Given the description of an element on the screen output the (x, y) to click on. 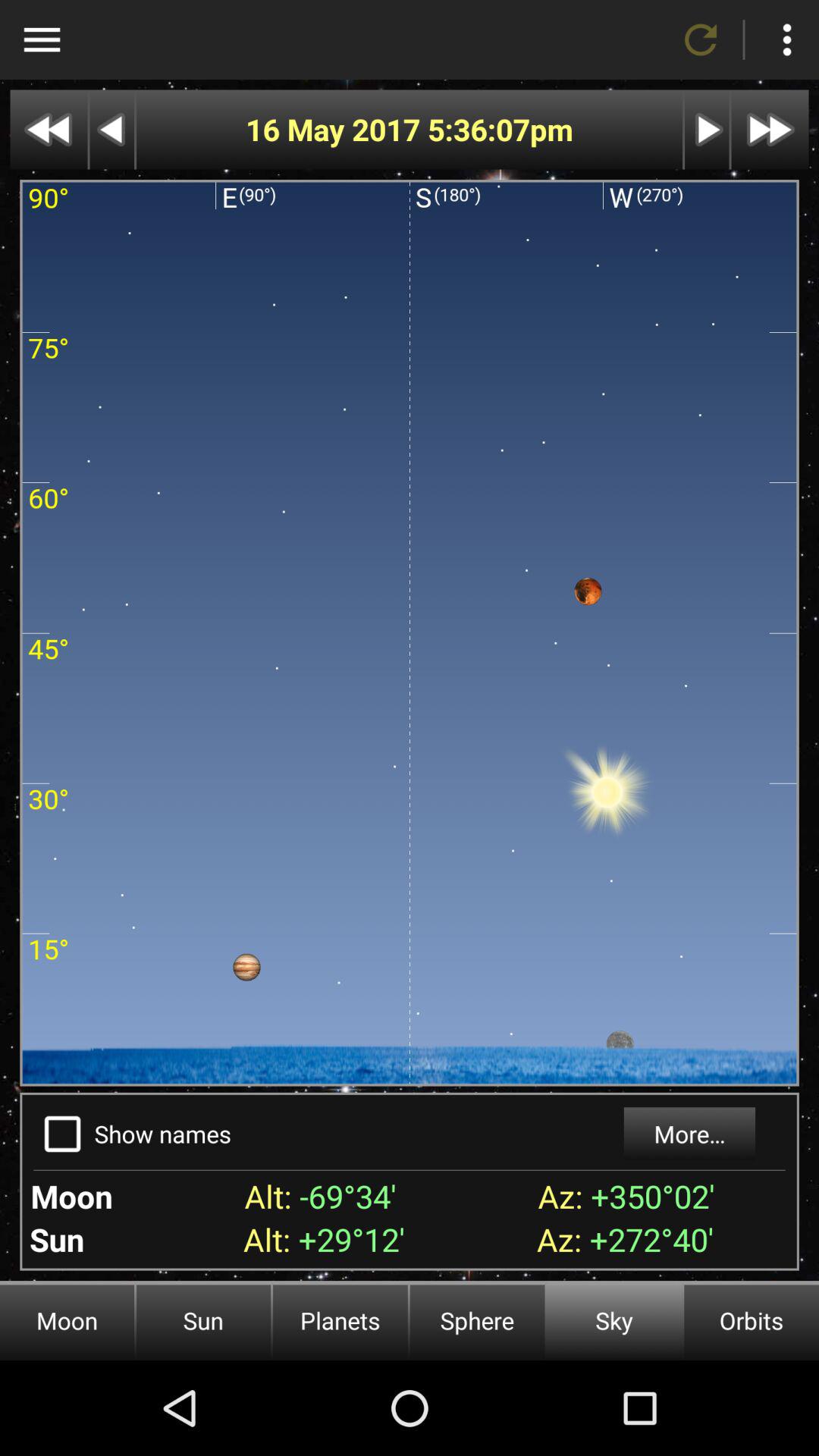
toggle show names (62, 1133)
